Given the description of an element on the screen output the (x, y) to click on. 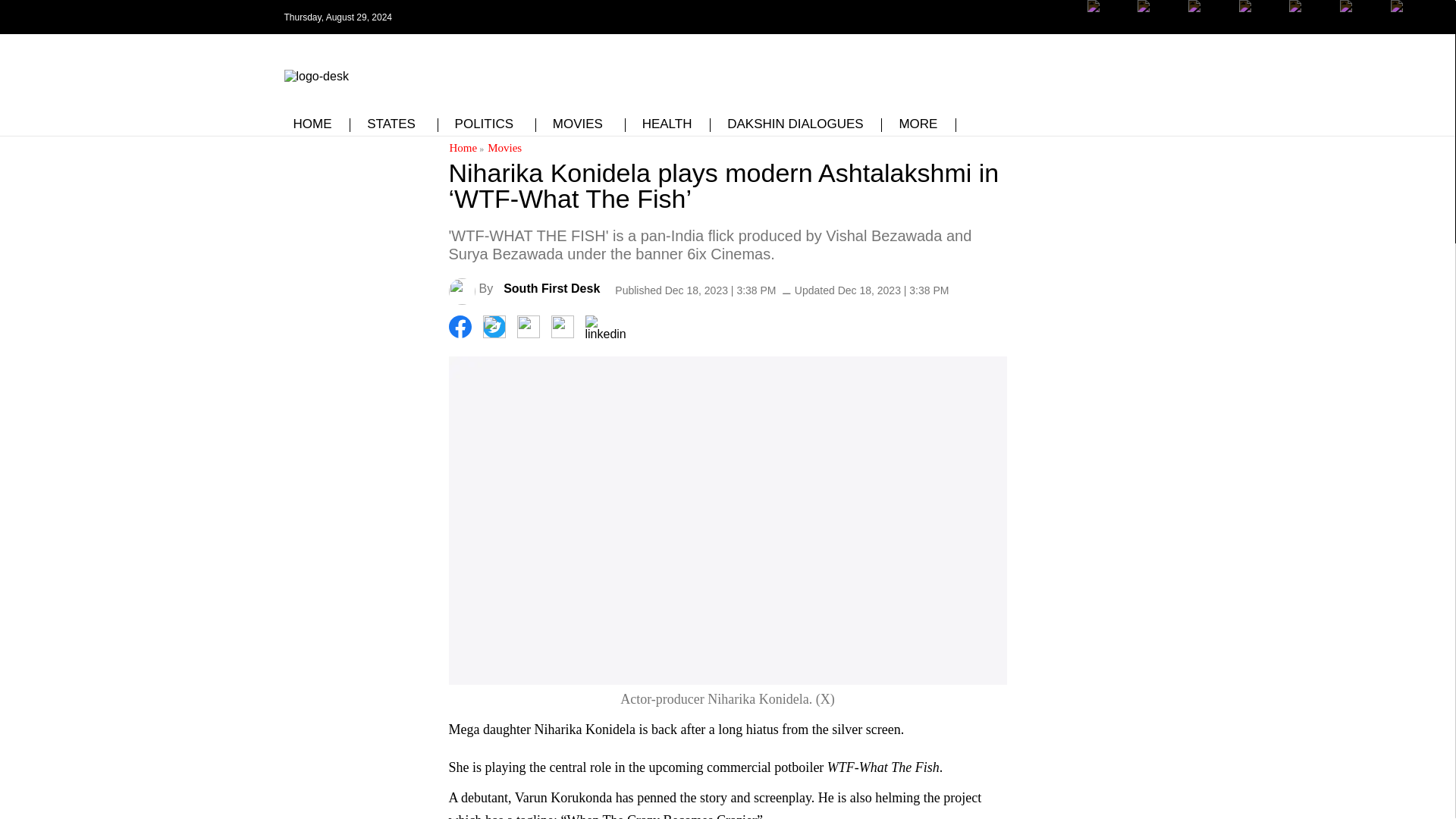
logo-desk (315, 76)
SouthFirst facebook (1108, 27)
SouthFirst instagram (1209, 16)
logo (315, 72)
SouthFirst youtube (1260, 27)
SouthFirst youtube (1309, 27)
SouthFirst twitter (1158, 27)
SouthFirst instagram (1209, 27)
SouthFirst twitter (1158, 16)
SouthFirst youtube (1260, 16)
